Given the description of an element on the screen output the (x, y) to click on. 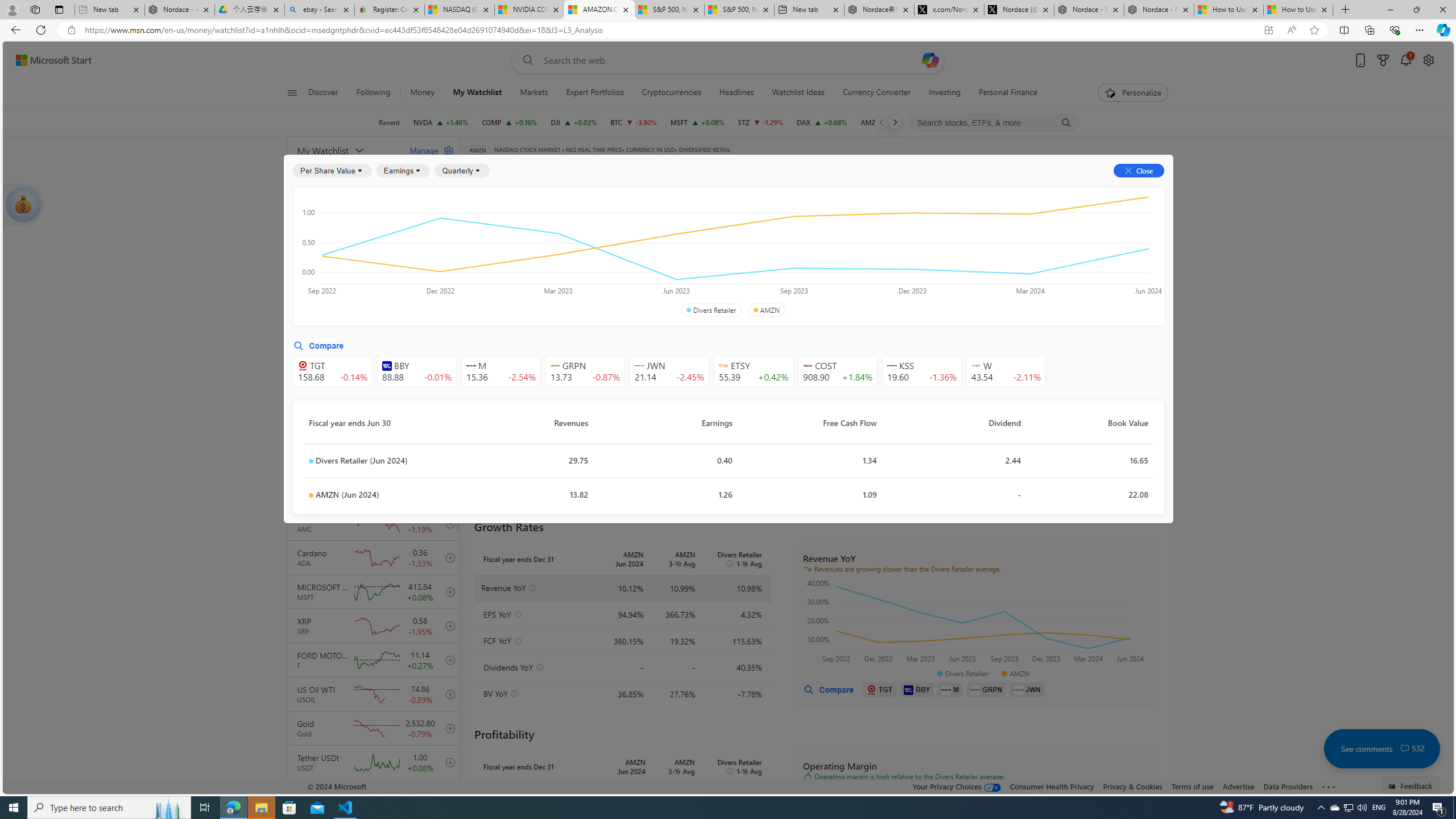
See comments 532 (1381, 748)
Income Statement (550, 223)
NVDA NVIDIA CORPORATION increase 128.30 +1.84 +1.46% (441, 122)
AMZN (766, 310)
Leverage & Liquidity (782, 253)
My Watchlist (346, 150)
Annual (491, 286)
Options (1123, 188)
